Given the description of an element on the screen output the (x, y) to click on. 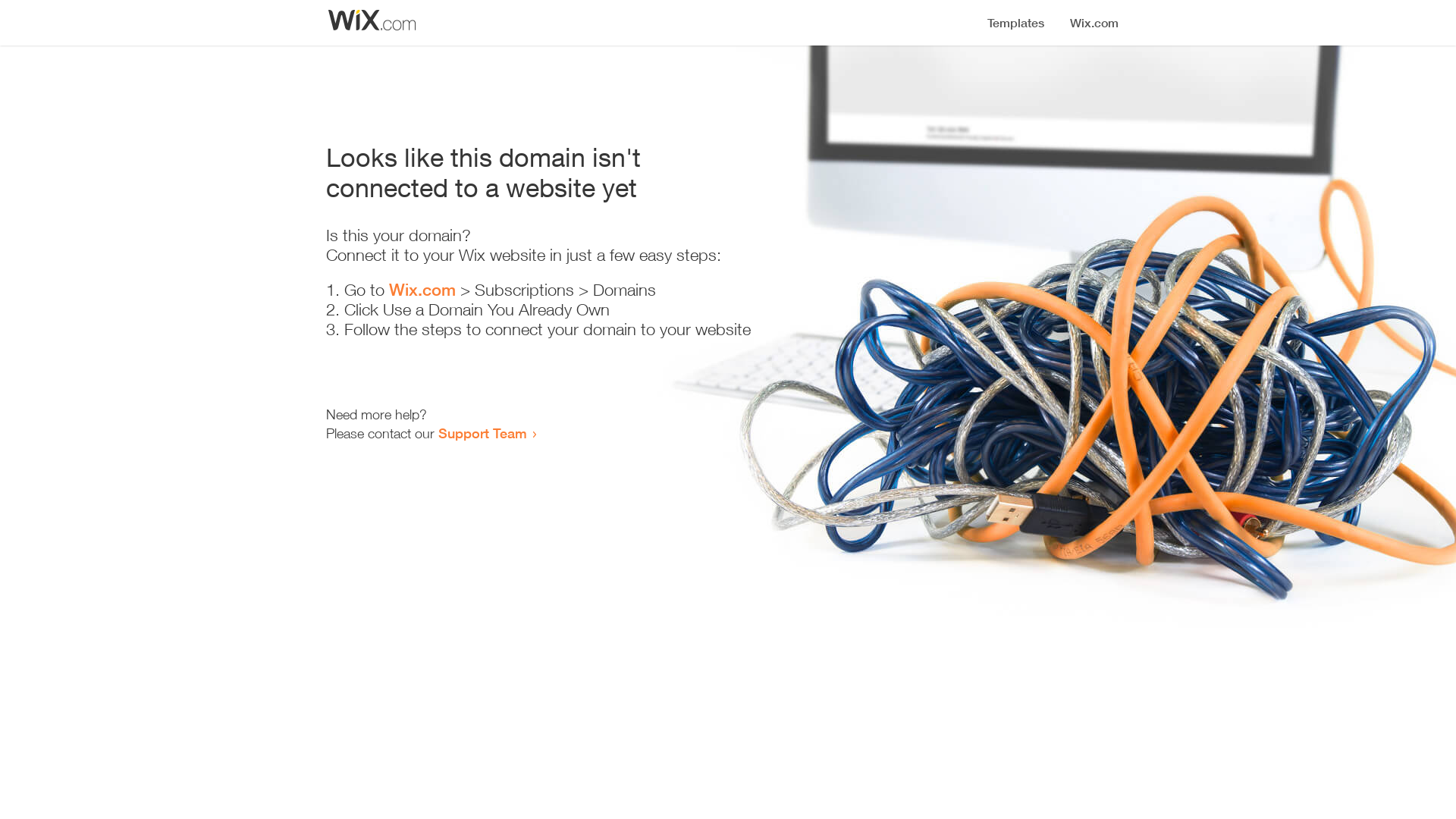
Wix.com Element type: text (422, 289)
Support Team Element type: text (482, 432)
